Given the description of an element on the screen output the (x, y) to click on. 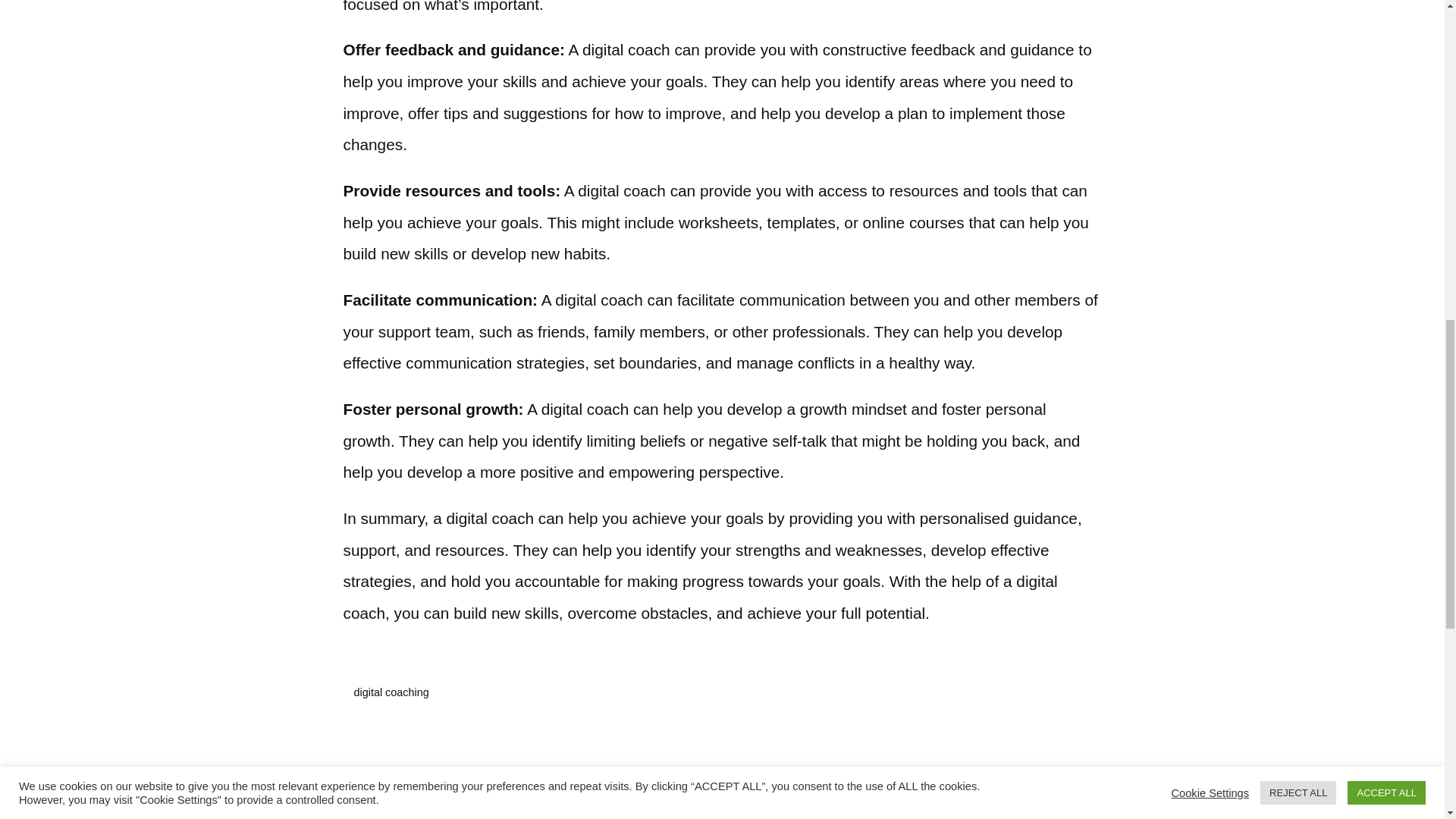
digital coaching (390, 692)
